Given the description of an element on the screen output the (x, y) to click on. 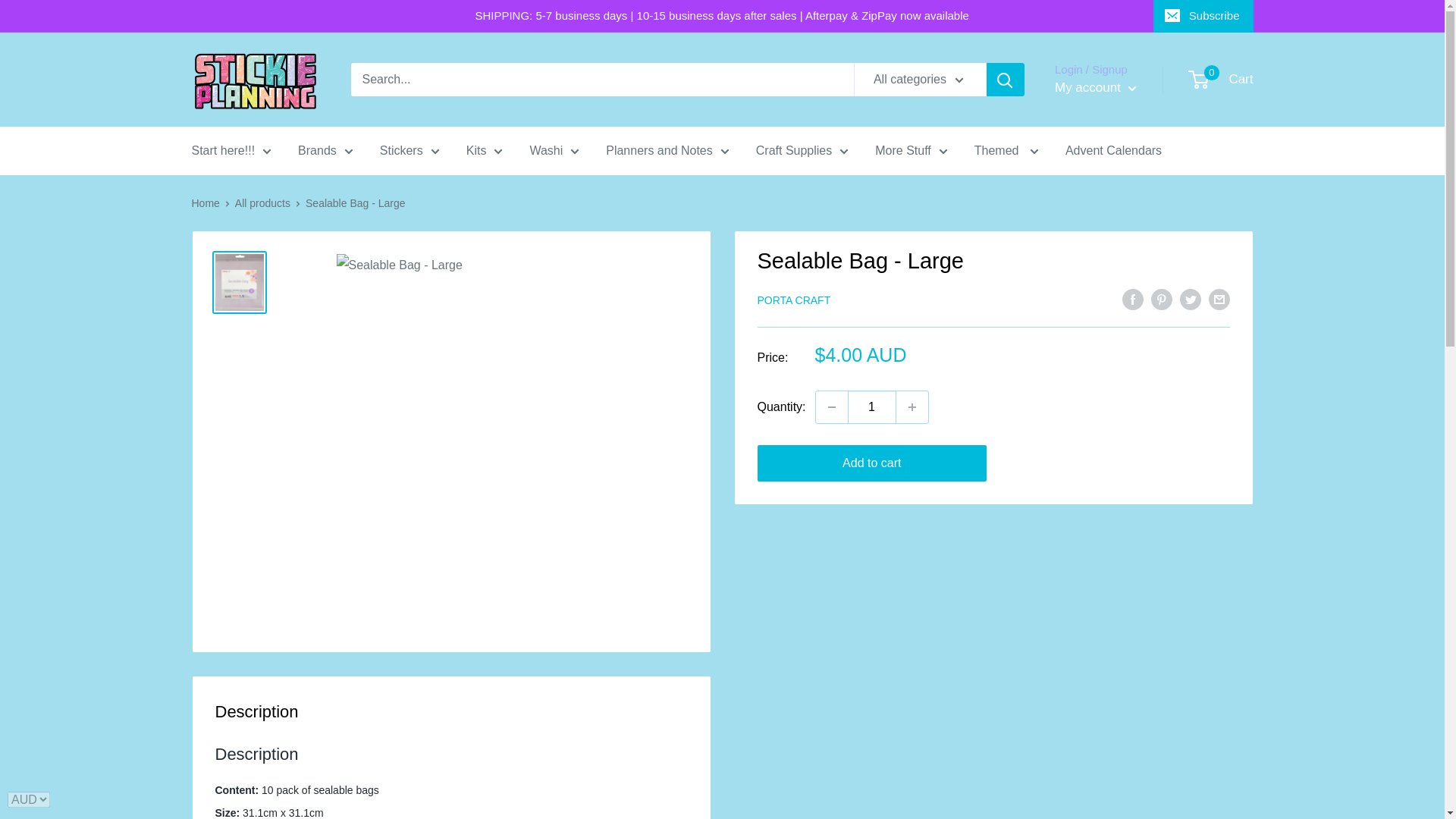
Increase quantity by 1 (912, 407)
Subscribe (1203, 15)
1 (871, 407)
Decrease quantity by 1 (831, 407)
